Given the description of an element on the screen output the (x, y) to click on. 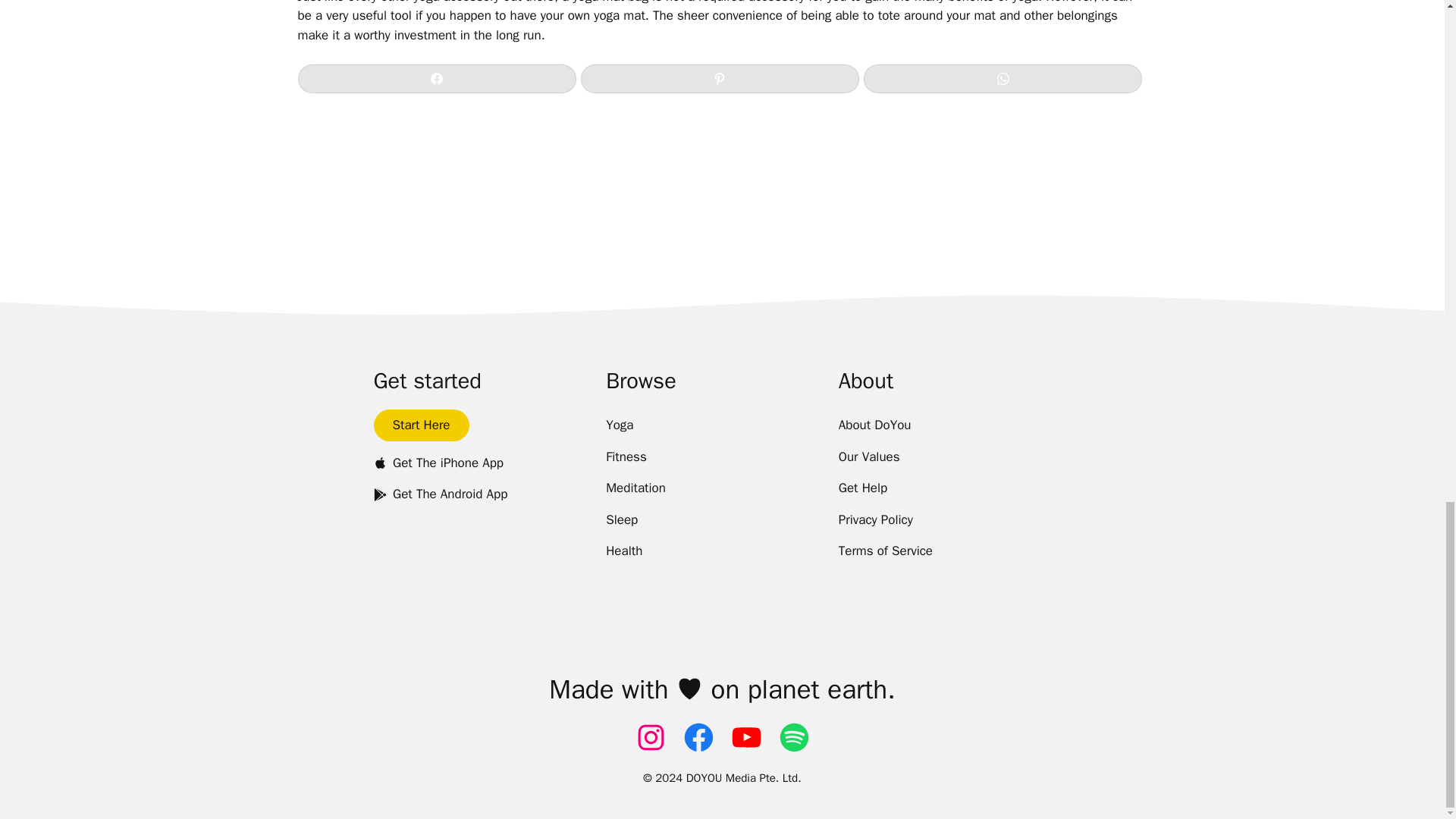
Fitness (625, 457)
Meditation (635, 488)
About DoYou (874, 425)
Terms of Service (885, 551)
Get Help (863, 488)
Get The iPhone App (437, 463)
Get The Android App (439, 494)
Privacy Policy (875, 520)
Our Values (868, 457)
Start Here (420, 425)
Sleep (621, 520)
Health (623, 551)
